Given the description of an element on the screen output the (x, y) to click on. 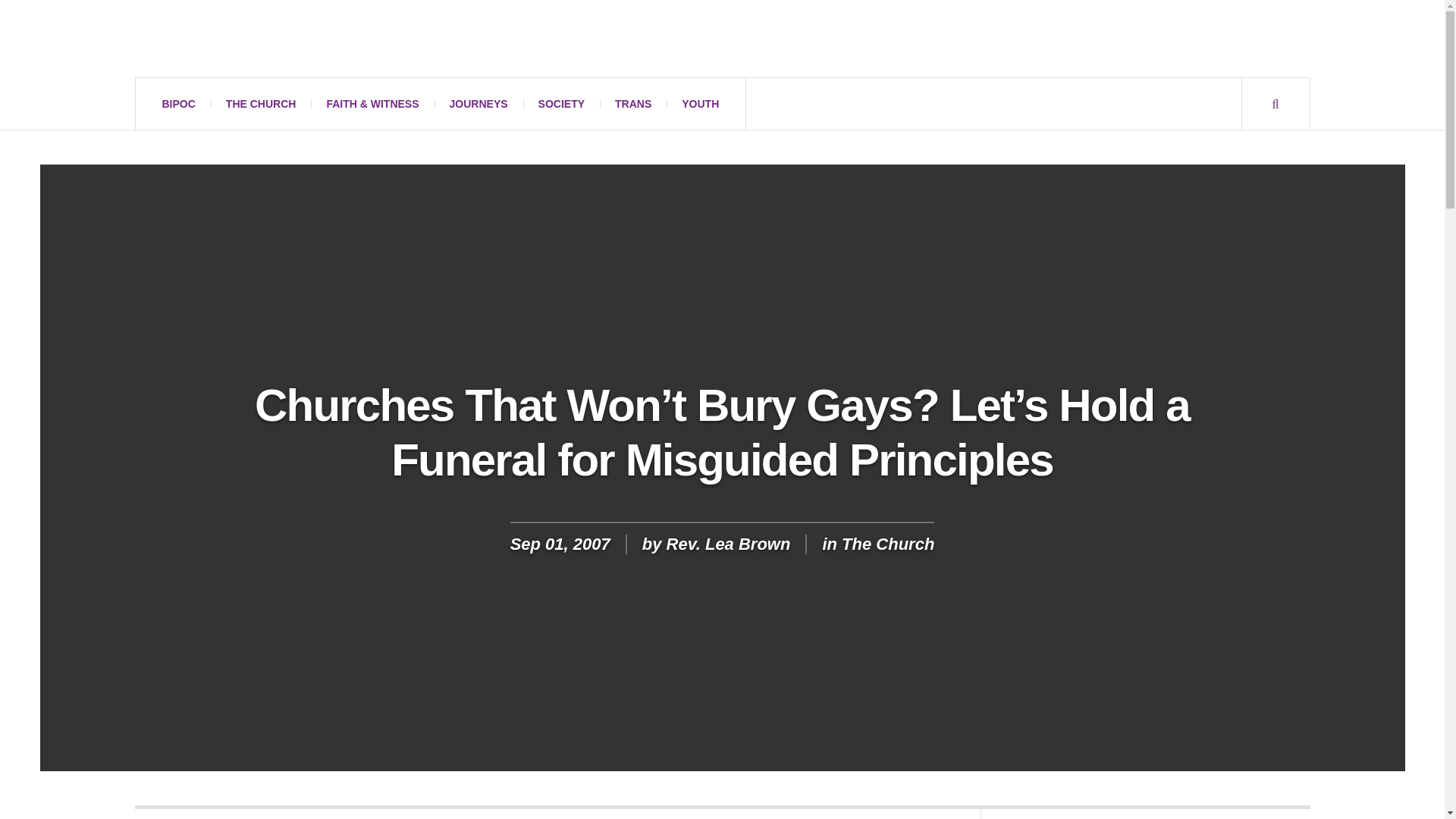
View all posts in The Church (887, 543)
The Church (887, 543)
THE CHURCH (261, 103)
Rev. Lea Brown (728, 543)
BIPOC (179, 103)
YOUTH (699, 103)
TRANS (632, 103)
Whosoever (274, 38)
JOURNEYS (477, 103)
SOCIETY (560, 103)
